Given the description of an element on the screen output the (x, y) to click on. 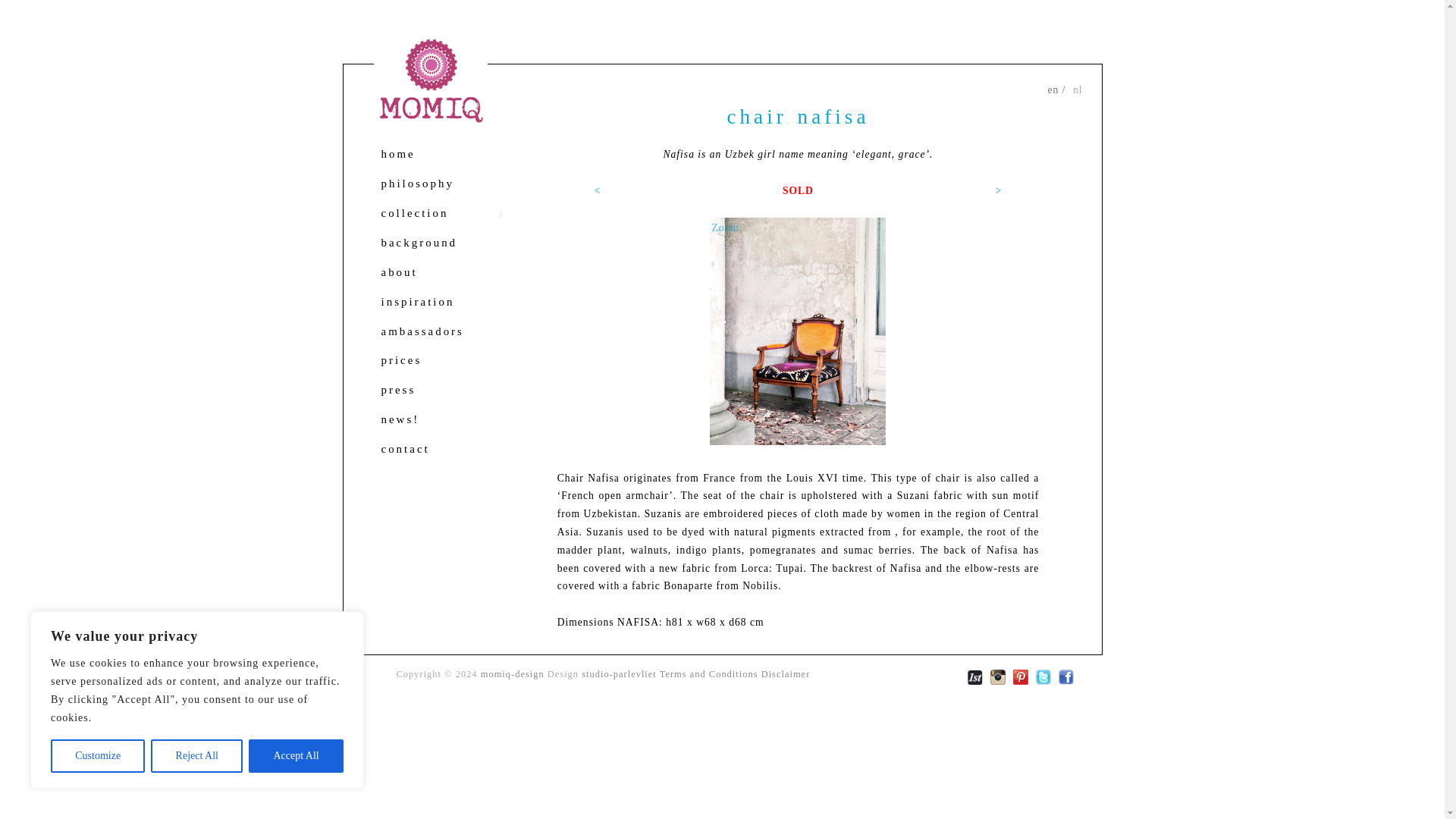
about (444, 272)
home (444, 154)
studio-parlevliet (618, 674)
inspiration (444, 301)
chair nafisa (797, 116)
philosophy (444, 184)
nl (1078, 89)
momiq-design (512, 674)
news! (444, 419)
momiq-design (429, 77)
momiq-design (512, 674)
Zoom (797, 331)
prices (444, 360)
ambassadors (444, 331)
press (444, 390)
